Given the description of an element on the screen output the (x, y) to click on. 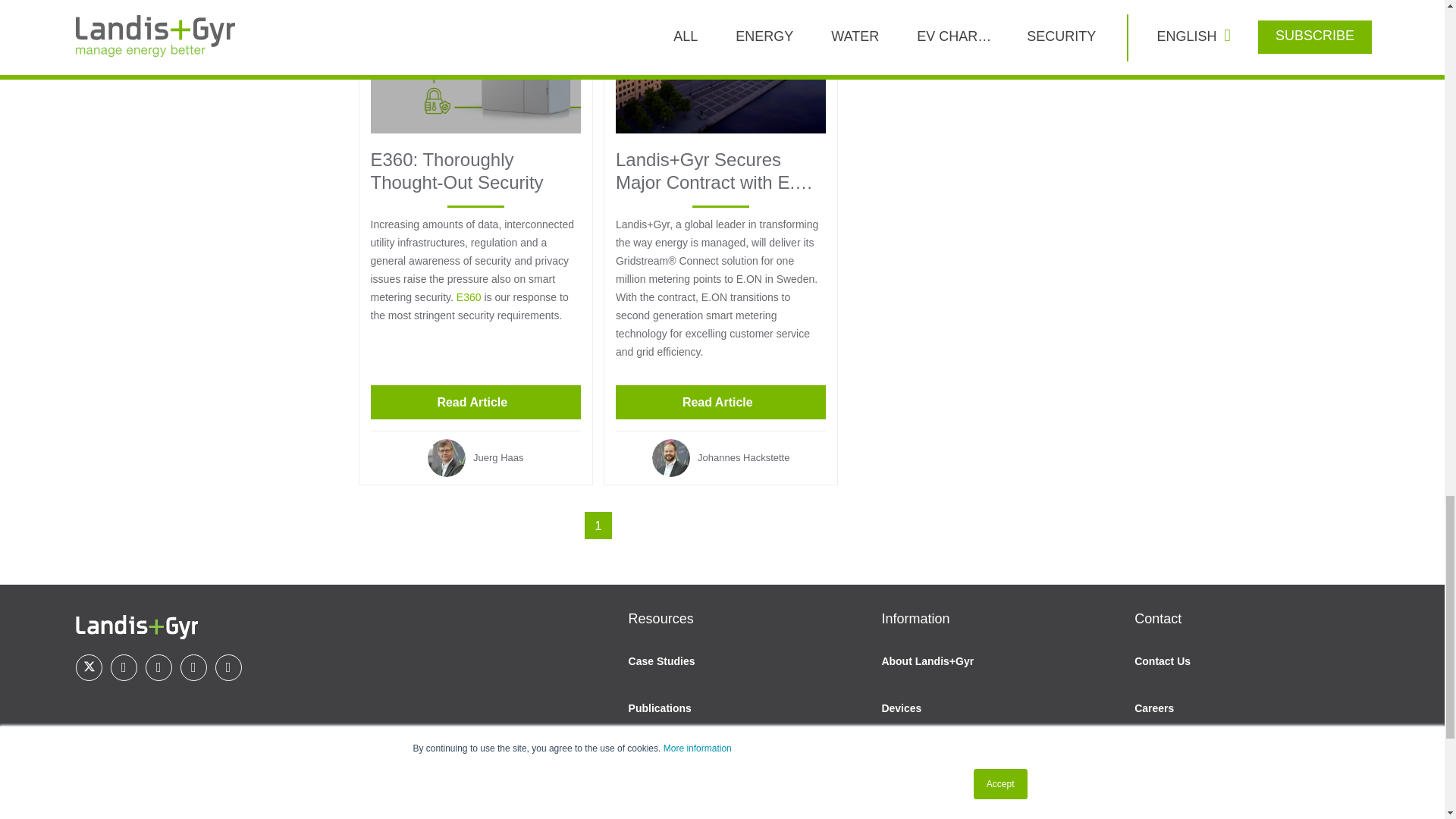
Twitter (88, 667)
